Given the description of an element on the screen output the (x, y) to click on. 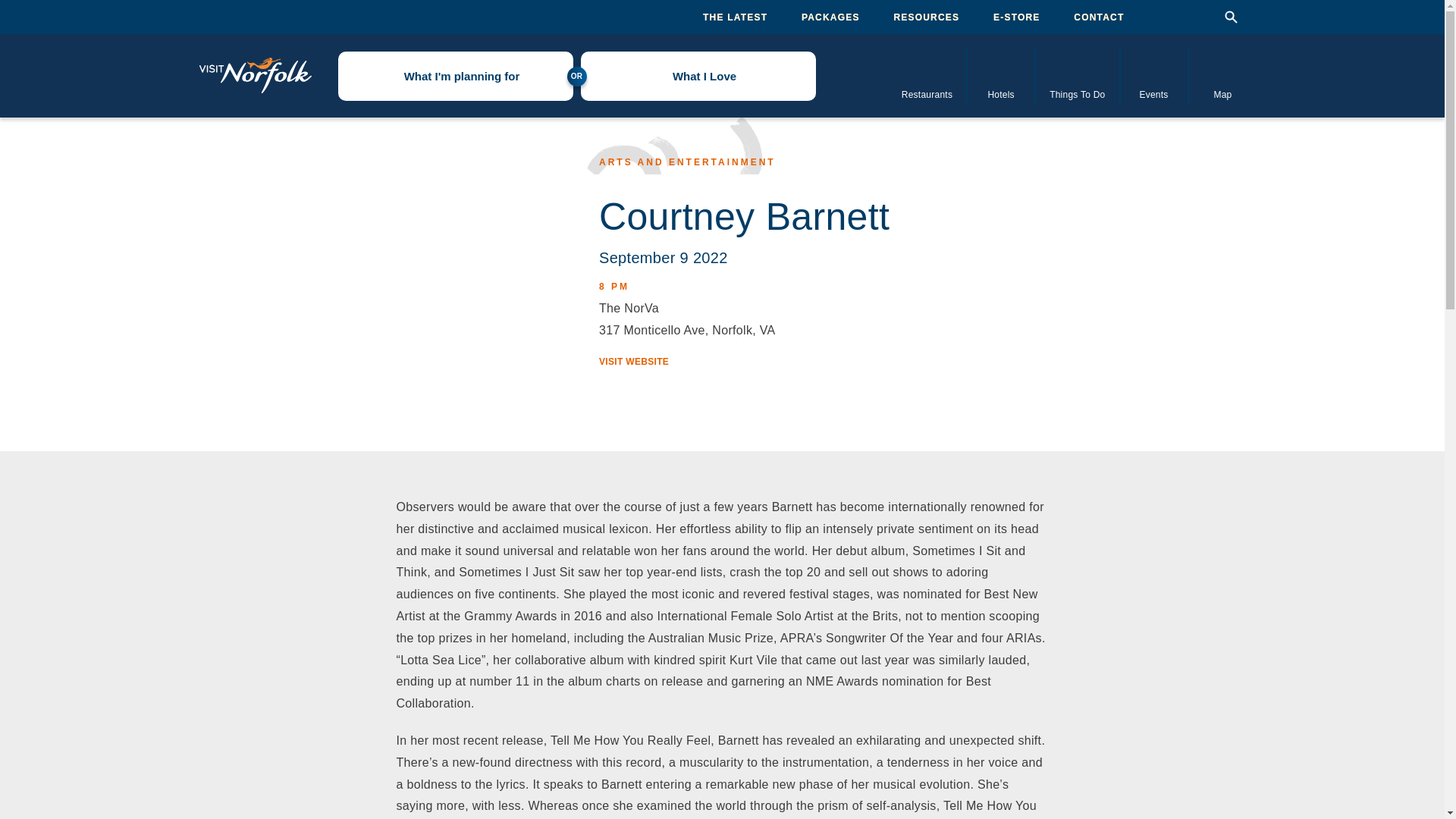
PACKAGES (831, 17)
Visit Norfolk (254, 75)
VISIT WEBSITE (633, 361)
Map (1223, 75)
Things To Do (1077, 75)
What I Love (697, 75)
CONTACT (1099, 17)
THE LATEST (735, 17)
Hotels (1001, 75)
Restaurants (928, 75)
